Given the description of an element on the screen output the (x, y) to click on. 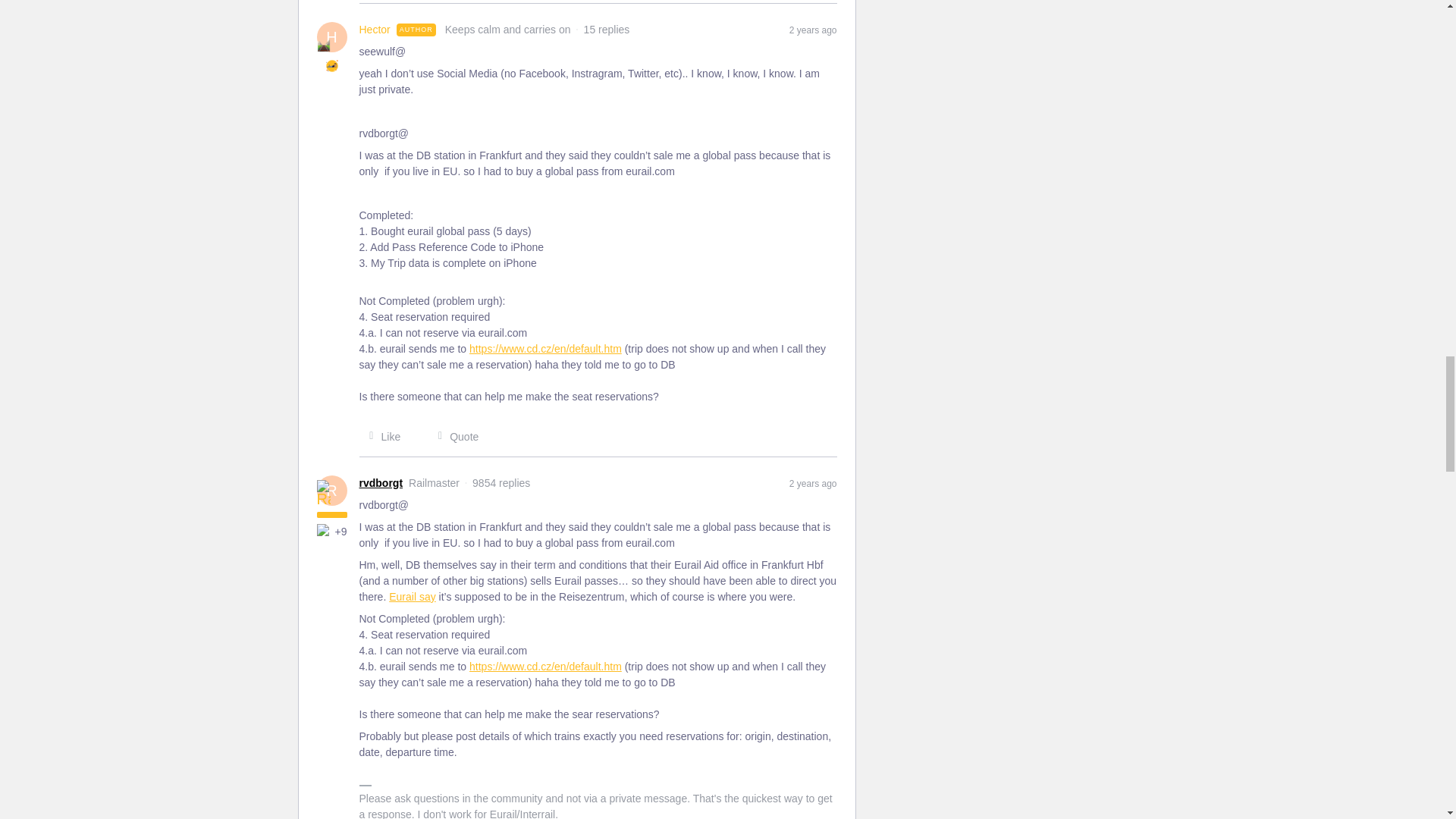
Keeps calm and carries on (323, 45)
Easygoing (331, 65)
